Given the description of an element on the screen output the (x, y) to click on. 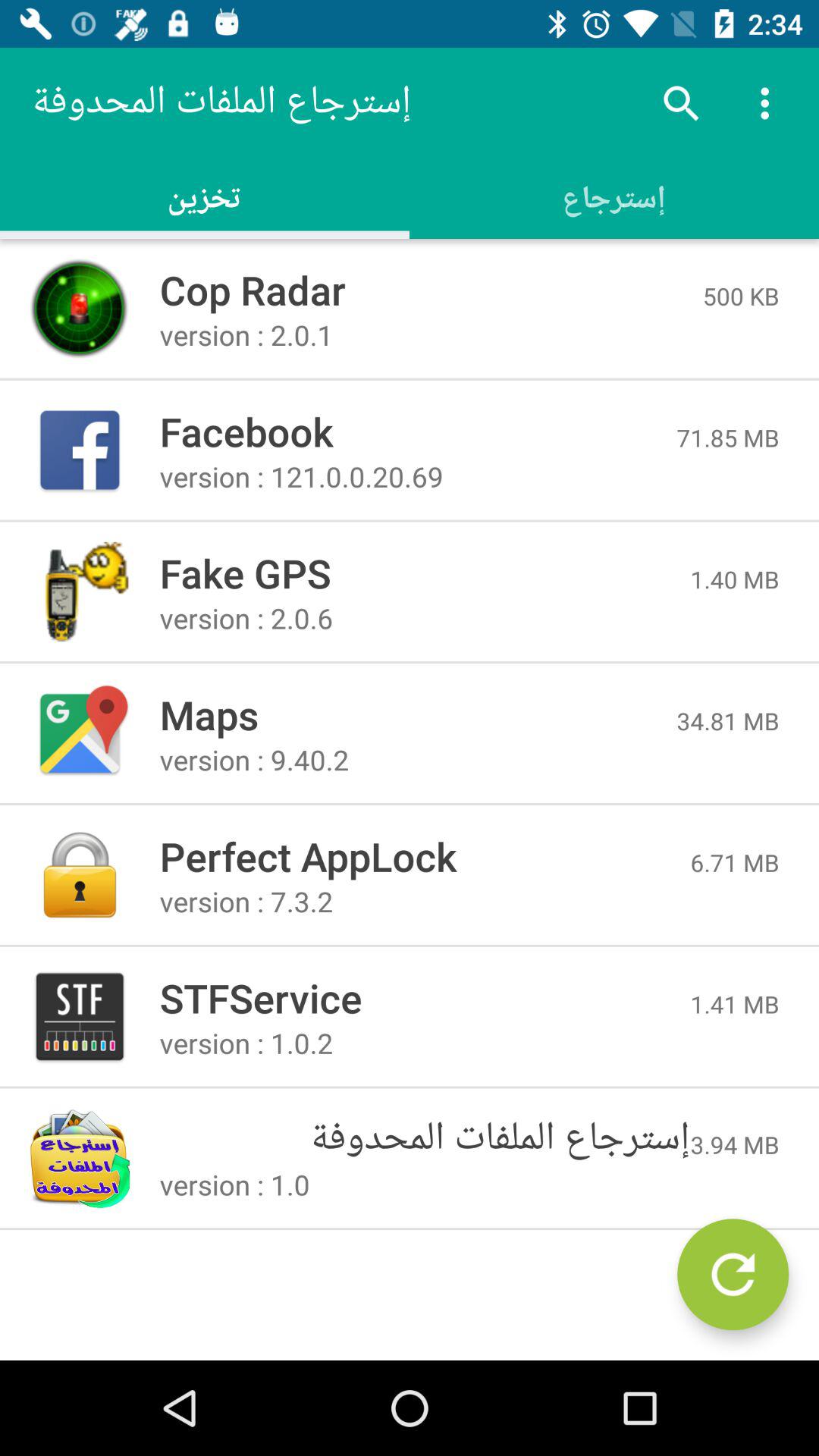
click the item above version 121 0 item (417, 430)
